Given the description of an element on the screen output the (x, y) to click on. 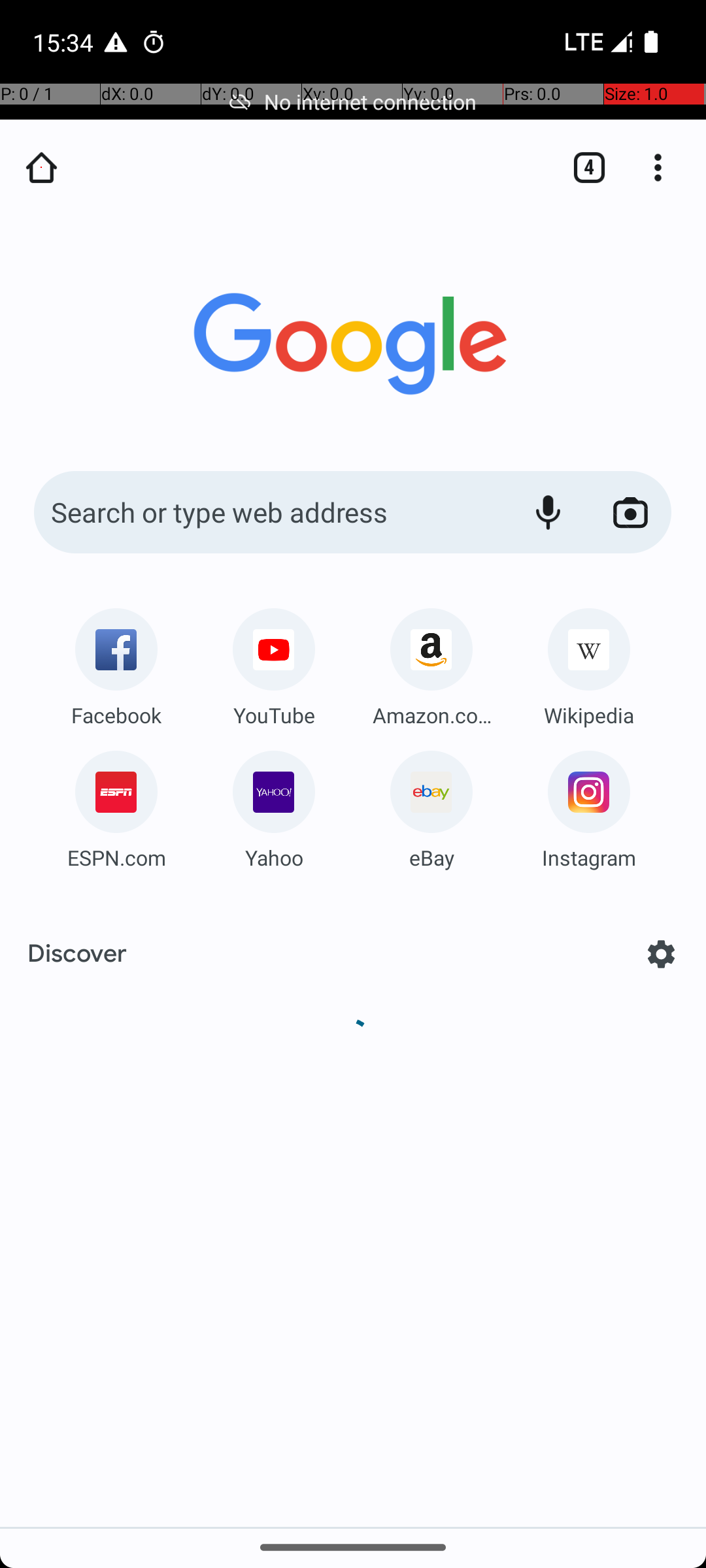
Search or type web address Element type: android.widget.EditText (267, 512)
Start voice search Element type: android.widget.ImageView (547, 512)
Search with your camera using Google Lens Element type: android.widget.ImageView (629, 512)
Navigate: Facebook: m.facebook.com Element type: android.widget.FrameLayout (115, 662)
Navigate: YouTube: m.youtube.com Element type: android.widget.FrameLayout (273, 662)
Navigate: Amazon.com: www.amazon.com Element type: android.widget.FrameLayout (431, 662)
Navigate: Wikipedia: en.m.wikipedia.org Element type: android.widget.FrameLayout (588, 662)
Navigate: ESPN.com: www.espn.com Element type: android.widget.FrameLayout (115, 804)
Navigate: Yahoo: www.yahoo.com Element type: android.widget.FrameLayout (273, 804)
Navigate: eBay: m.ebay.com Element type: android.widget.FrameLayout (431, 804)
Navigate: Instagram: www.instagram.com Element type: android.widget.FrameLayout (588, 804)
Discover Element type: android.widget.TextView (76, 953)
Options for Discover Element type: android.widget.ImageButton (660, 953)
Facebook Element type: android.widget.TextView (115, 715)
Amazon.com Element type: android.widget.TextView (430, 715)
Wikipedia Element type: android.widget.TextView (588, 715)
ESPN.com Element type: android.widget.TextView (115, 857)
Yahoo Element type: android.widget.TextView (273, 857)
eBay Element type: android.widget.TextView (430, 857)
Instagram Element type: android.widget.TextView (588, 857)
